Given the description of an element on the screen output the (x, y) to click on. 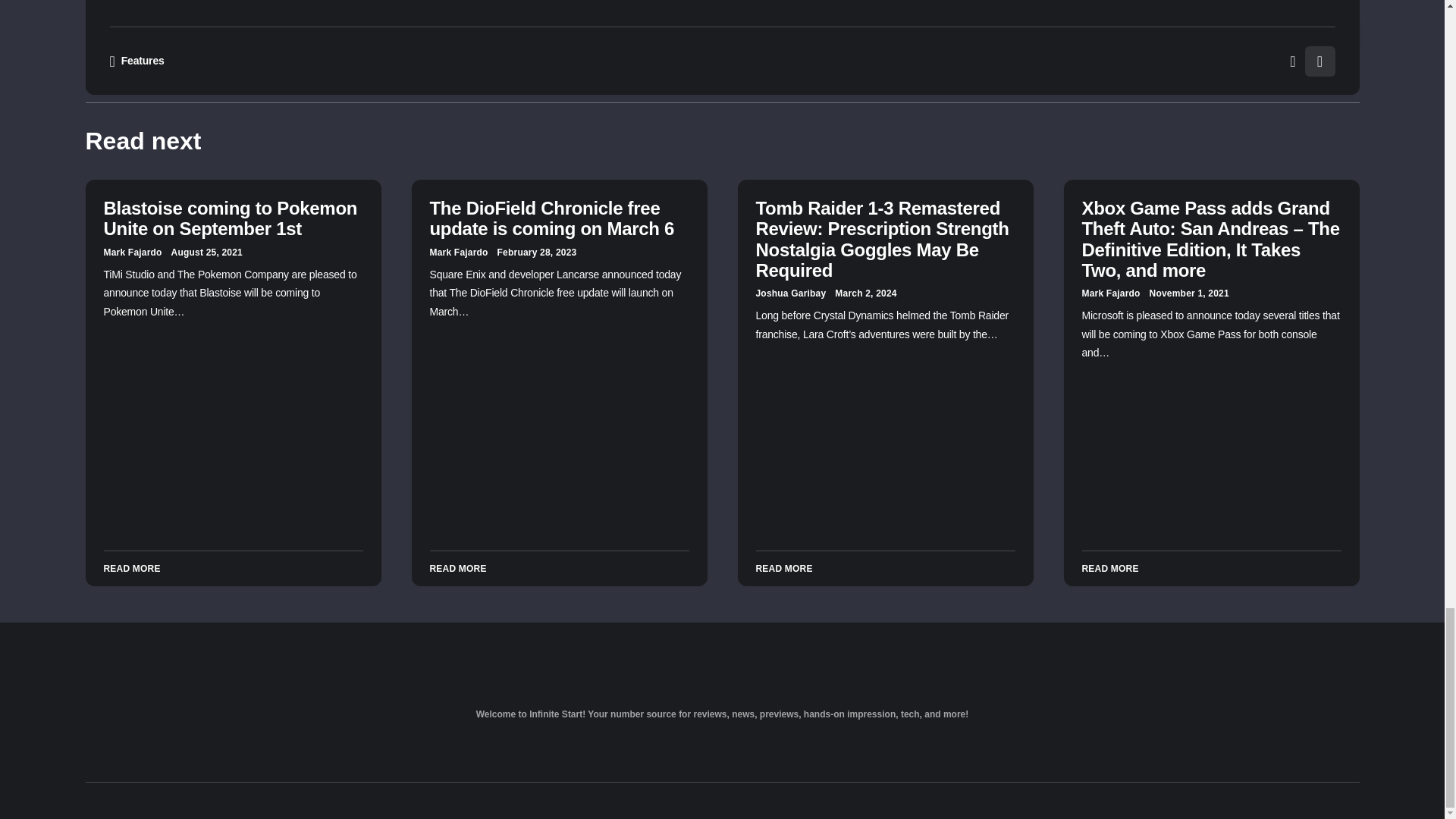
Post Comment (868, 23)
View all posts by Joshua Garibay (790, 293)
View all posts by Mark Fajardo (132, 252)
yes (415, 26)
View all posts by Mark Fajardo (458, 252)
View all posts by Mark Fajardo (1110, 293)
